Given the description of an element on the screen output the (x, y) to click on. 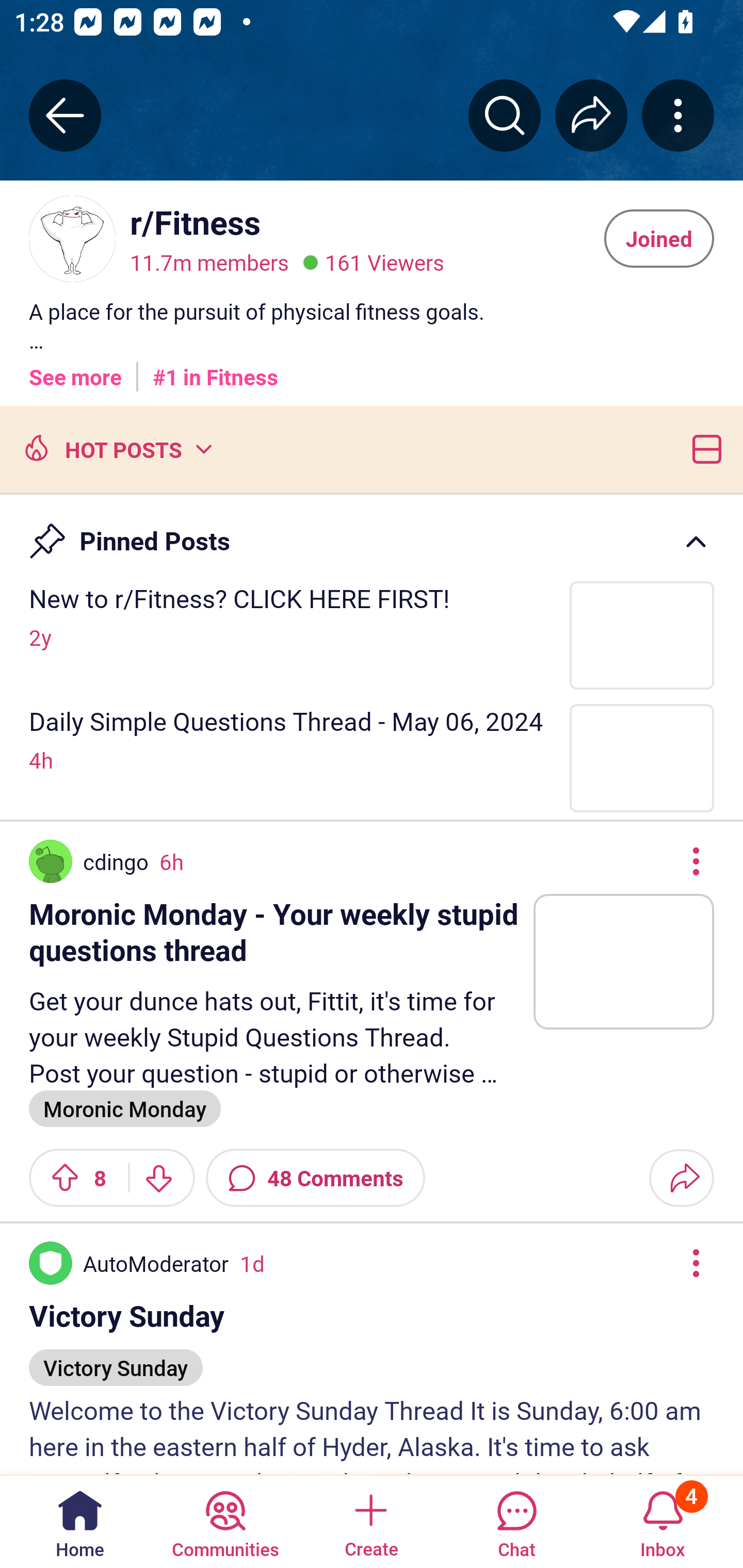
Back (64, 115)
Search r/﻿Fitness (504, 115)
Share r/﻿Fitness (591, 115)
More community actions (677, 115)
See more (74, 369)
#1 in Fitness (215, 369)
Hot posts HOT POSTS (116, 448)
Card (703, 448)
Pin Pinned Posts Caret (371, 531)
New to r/Fitness? CLICK HERE FIRST! 2y Thumbnail (371, 634)
Moronic Monday (124, 1107)
Victory Sunday (115, 1358)
Home (80, 1520)
Communities (225, 1520)
Create a post Create (370, 1520)
Chat (516, 1520)
Inbox, has 4 notifications 4 Inbox (662, 1520)
